Given the description of an element on the screen output the (x, y) to click on. 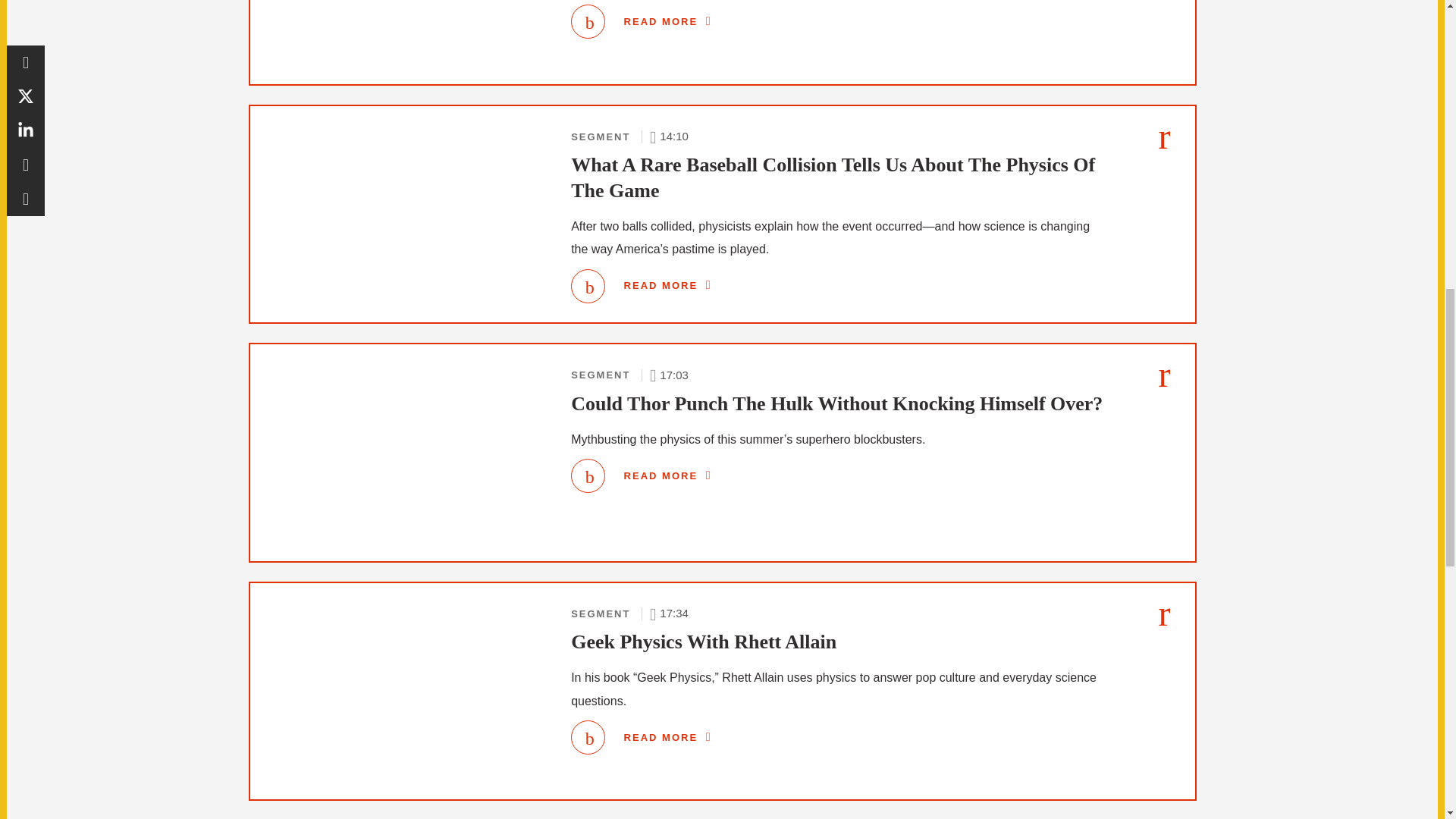
Segment (600, 137)
The Alarming Impacts Of Extreme Heat (587, 21)
The Alarming Impacts Of Extreme Heat (667, 21)
